Given the description of an element on the screen output the (x, y) to click on. 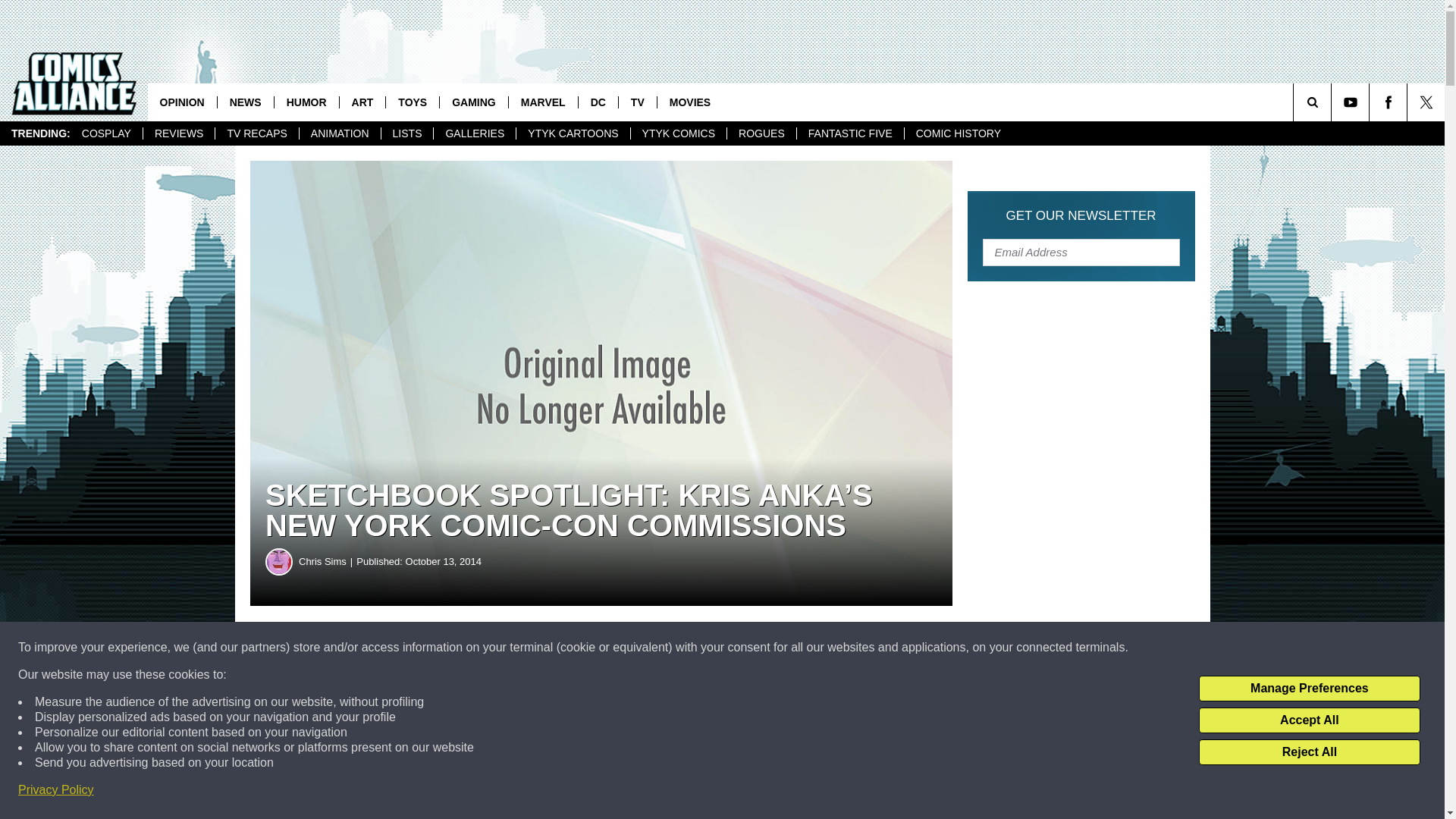
ANIMATION (339, 133)
YTYK CARTOONS (571, 133)
Chris Sims (278, 561)
SHARE (460, 647)
YTYK COMICS (678, 133)
MOVIES (689, 102)
COMIC HISTORY (957, 133)
LISTS (406, 133)
FANTASTIC FIVE (850, 133)
TOYS (412, 102)
Reject All (1309, 751)
Chris Sims (327, 561)
SEARCH (1333, 102)
GAMING (473, 102)
SEARCH (1333, 102)
